Given the description of an element on the screen output the (x, y) to click on. 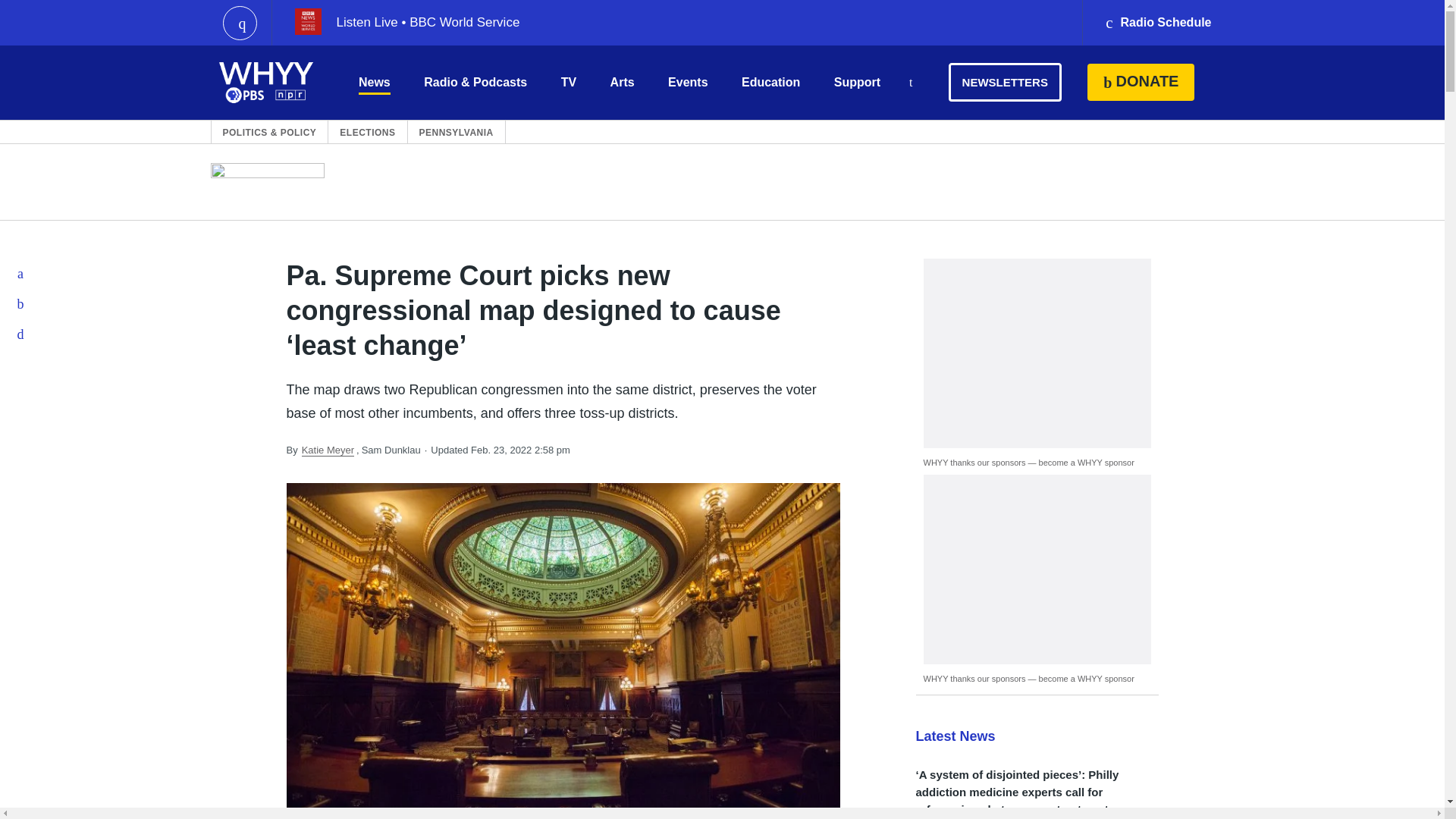
WHYY (266, 82)
Email (21, 334)
PENNSYLVANIA (456, 132)
ELECTIONS (366, 132)
Facebook (21, 273)
Twitter (21, 304)
Search (910, 83)
Radio Schedule (1157, 22)
